Given the description of an element on the screen output the (x, y) to click on. 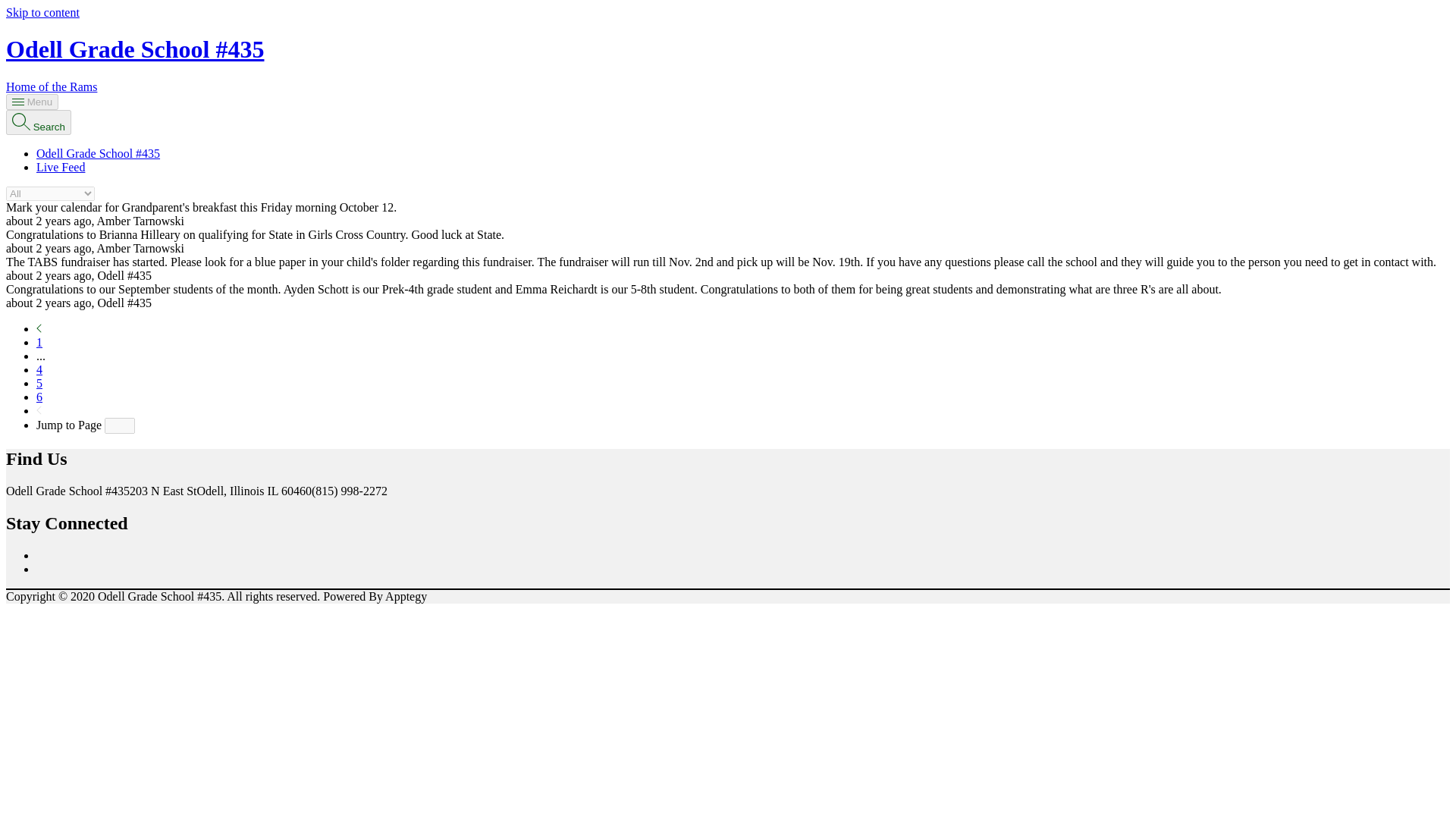
Skip to content (42, 11)
Search (38, 122)
Live Feed (60, 166)
Menu (31, 101)
